Given the description of an element on the screen output the (x, y) to click on. 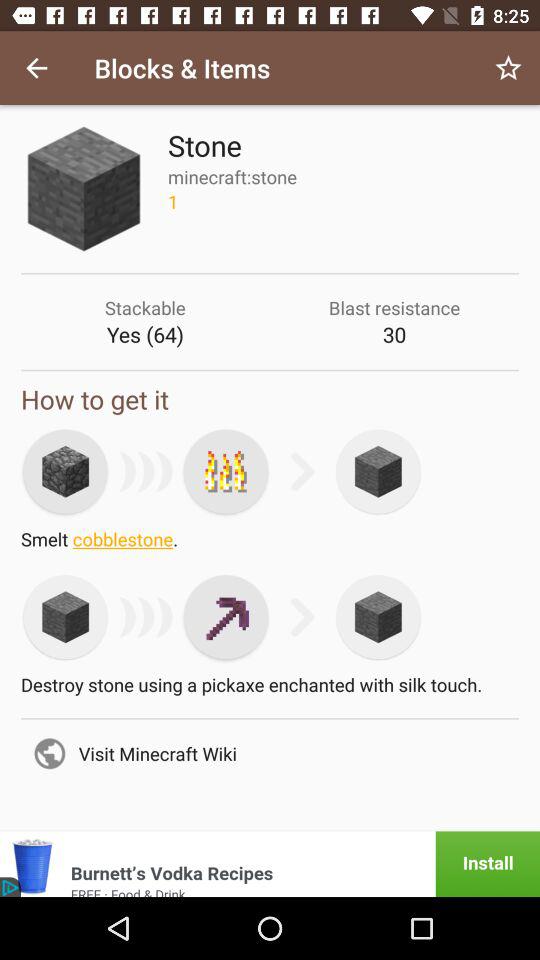
open the smelt cobblestone. item (270, 544)
